Given the description of an element on the screen output the (x, y) to click on. 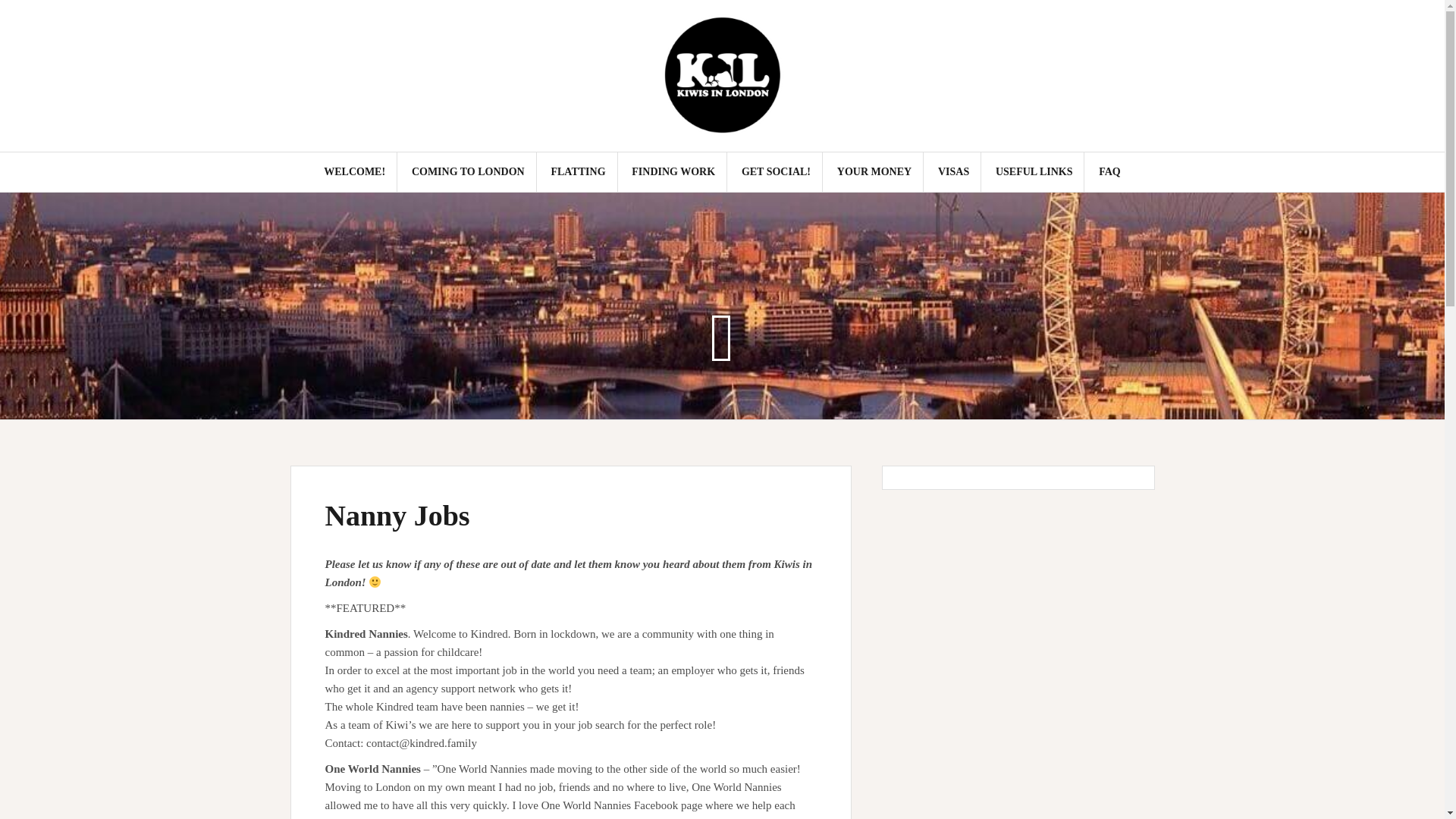
GET SOCIAL! (775, 171)
WELCOME! (354, 171)
FAQ (1110, 171)
VISAS (953, 171)
USEFUL LINKS (1034, 171)
Kiwis in London (721, 73)
YOUR MONEY (874, 171)
FLATTING (577, 171)
FINDING WORK (672, 171)
COMING TO LONDON (468, 171)
